Given the description of an element on the screen output the (x, y) to click on. 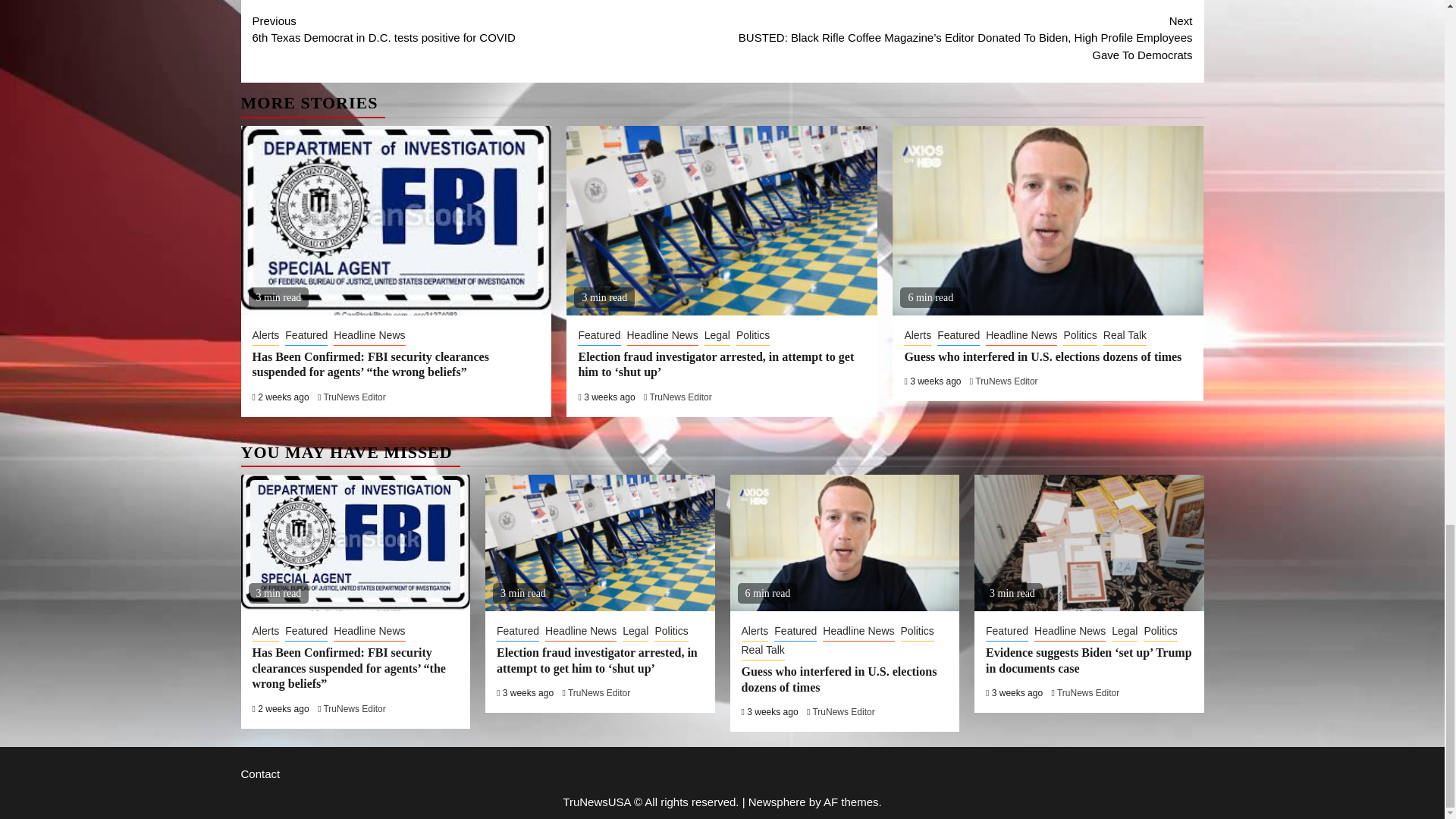
Featured (306, 336)
Alerts (265, 336)
Headline News (486, 29)
